Given the description of an element on the screen output the (x, y) to click on. 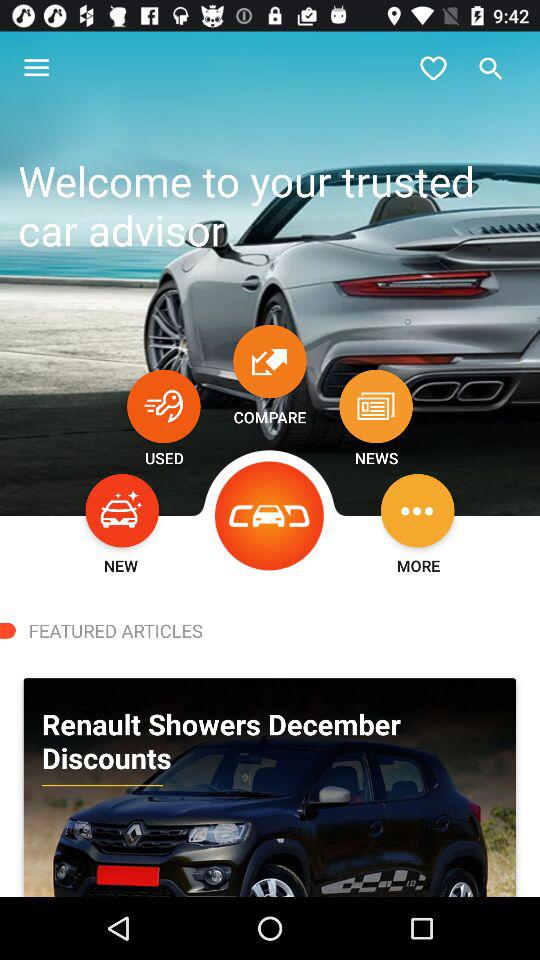
press the icon at the top left corner (36, 68)
